Given the description of an element on the screen output the (x, y) to click on. 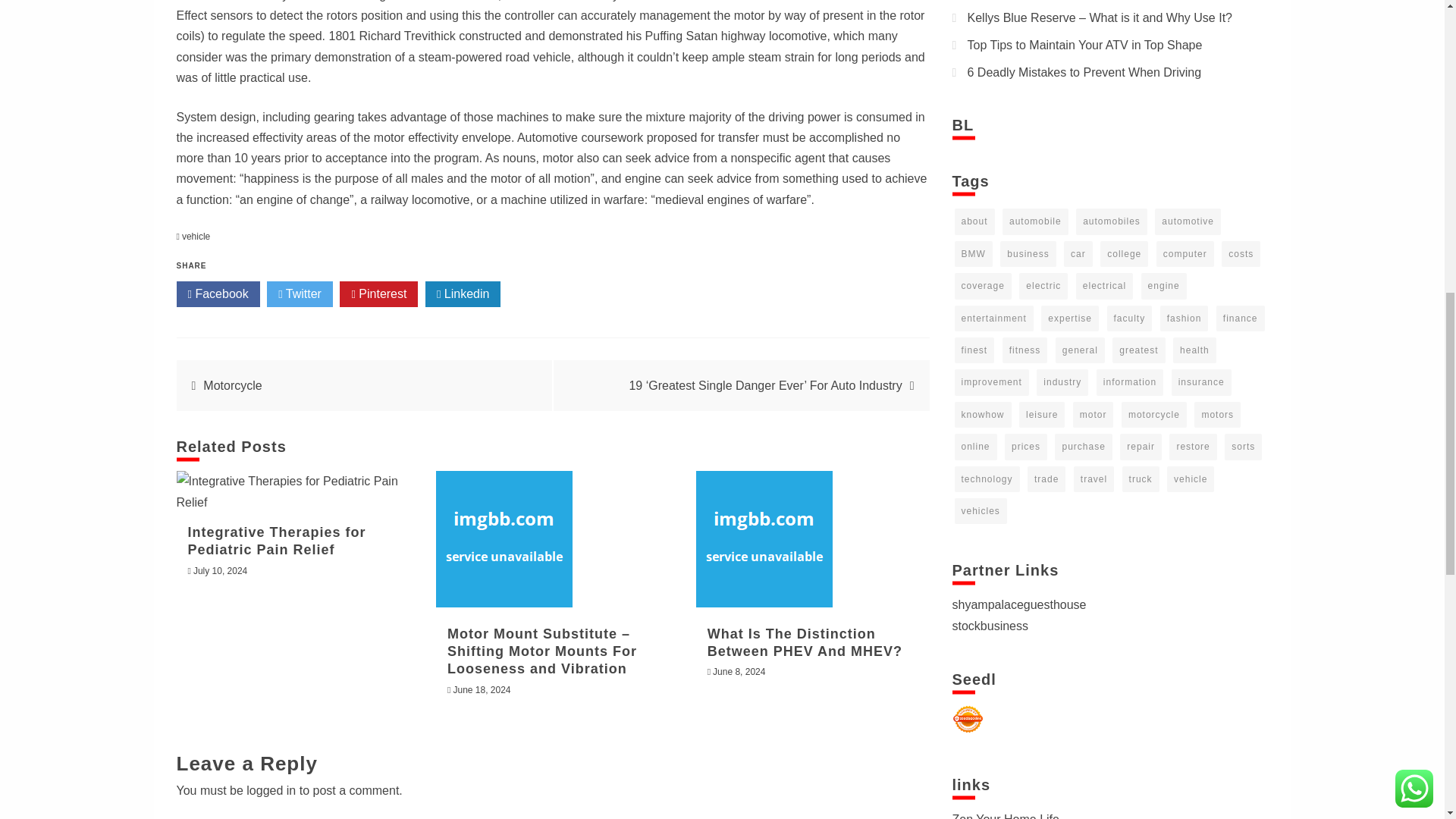
Seedbacklink (968, 719)
June 18, 2024 (481, 689)
Linkedin (462, 294)
June 8, 2024 (739, 671)
What Is The Distinction Between PHEV And MHEV? (804, 642)
Integrative Therapies for Pediatric Pain Relief (276, 540)
Pinterest (378, 294)
July 10, 2024 (220, 570)
vehicle (195, 235)
What Is The Distinction Between PHEV And MHEV? (763, 538)
Facebook (217, 294)
Twitter (299, 294)
Integrative Therapies for Pediatric Pain Relief (292, 490)
Motorcycle (232, 385)
